Given the description of an element on the screen output the (x, y) to click on. 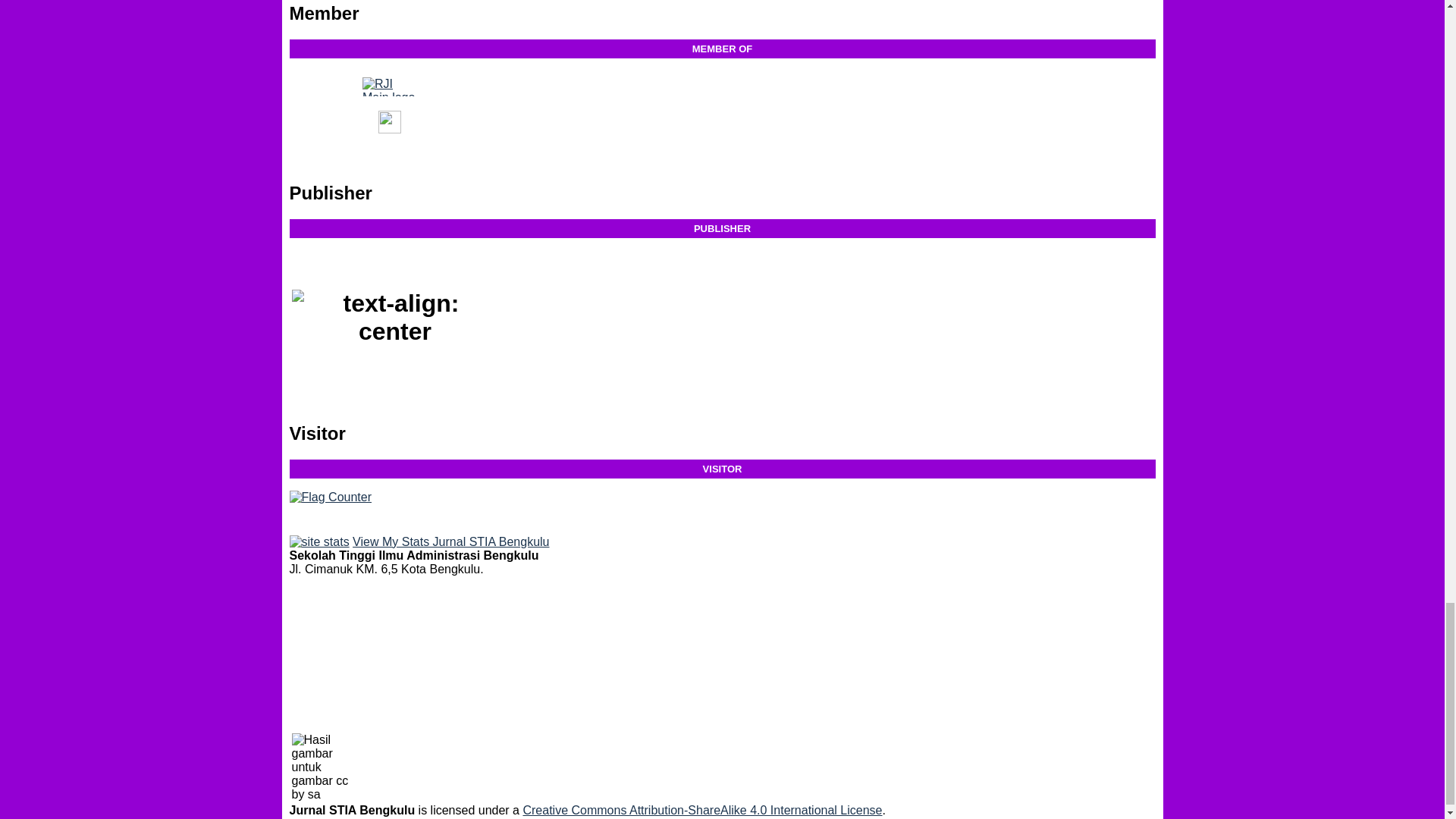
Relawan Jurnal Indonesia (388, 86)
site stats (319, 541)
Perkumpulan Dosen Muda Bengkulu (388, 128)
